Given the description of an element on the screen output the (x, y) to click on. 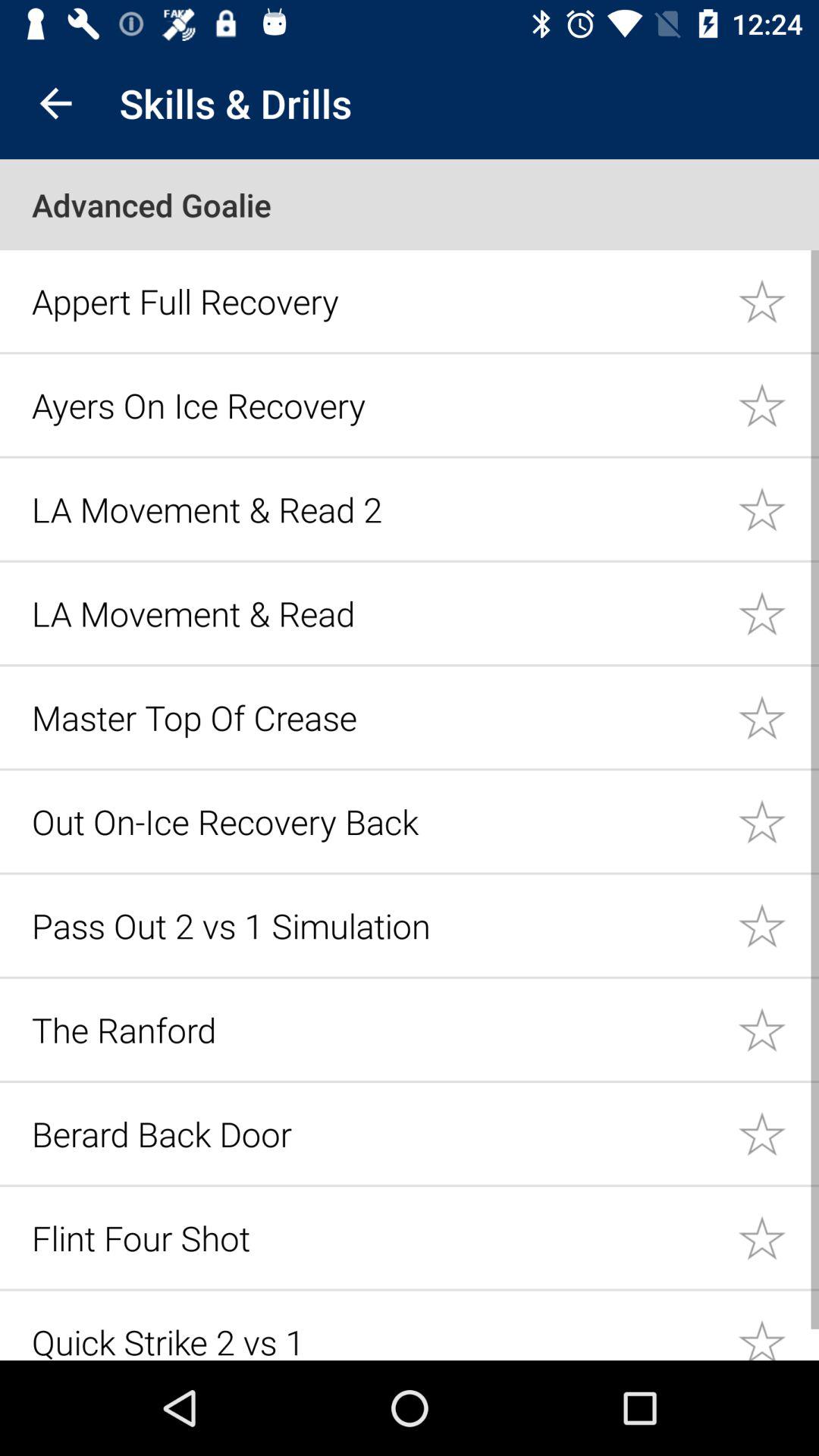
favorite item (778, 717)
